Given the description of an element on the screen output the (x, y) to click on. 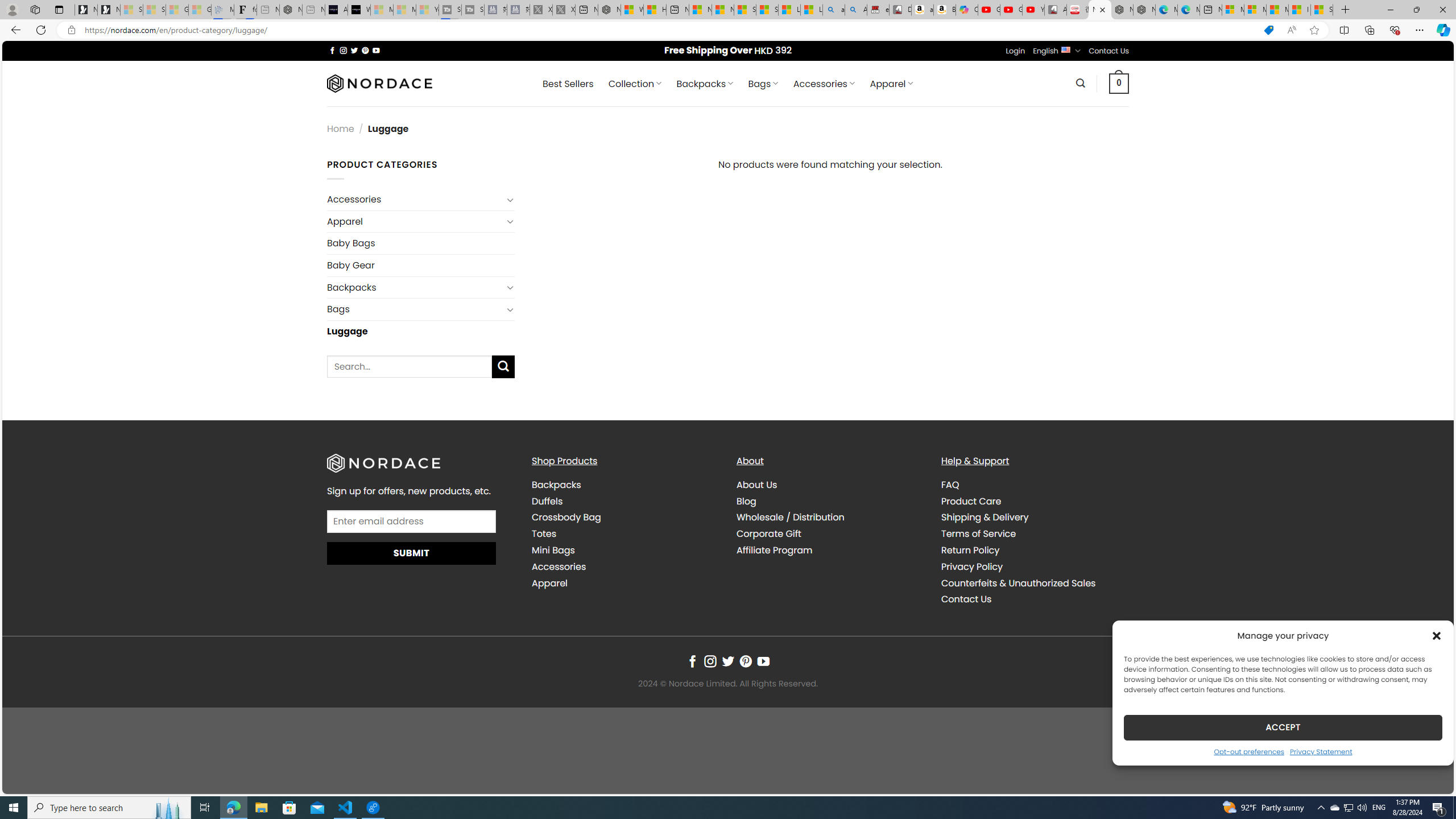
Accessories (625, 566)
AutomationID: input_4_1 (411, 521)
Nordace - Luggage (1099, 9)
Accessories (558, 566)
Terms of Service (1034, 533)
Wholesale / Distribution (790, 517)
Search for: (409, 366)
